Given the description of an element on the screen output the (x, y) to click on. 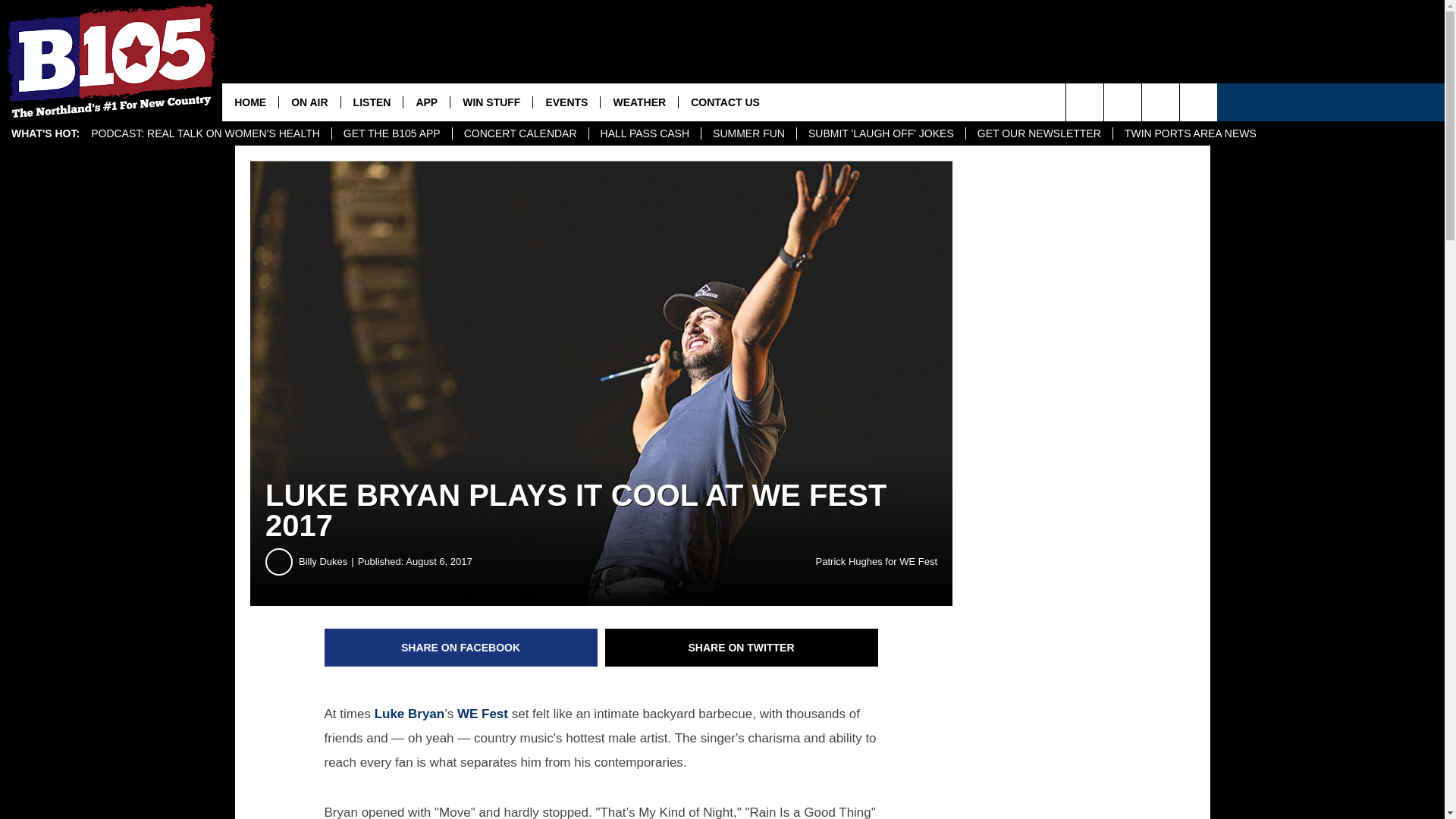
GET OUR NEWSLETTER (1038, 133)
SUBMIT 'LAUGH OFF' JOKES (880, 133)
LISTEN (371, 102)
TWIN PORTS AREA NEWS (1190, 133)
APP (426, 102)
EVENTS (565, 102)
HALL PASS CASH (644, 133)
CONCERT CALENDAR (519, 133)
PODCAST: REAL TALK ON WOMEN'S HEALTH (205, 133)
Share on Twitter (741, 647)
